Given the description of an element on the screen output the (x, y) to click on. 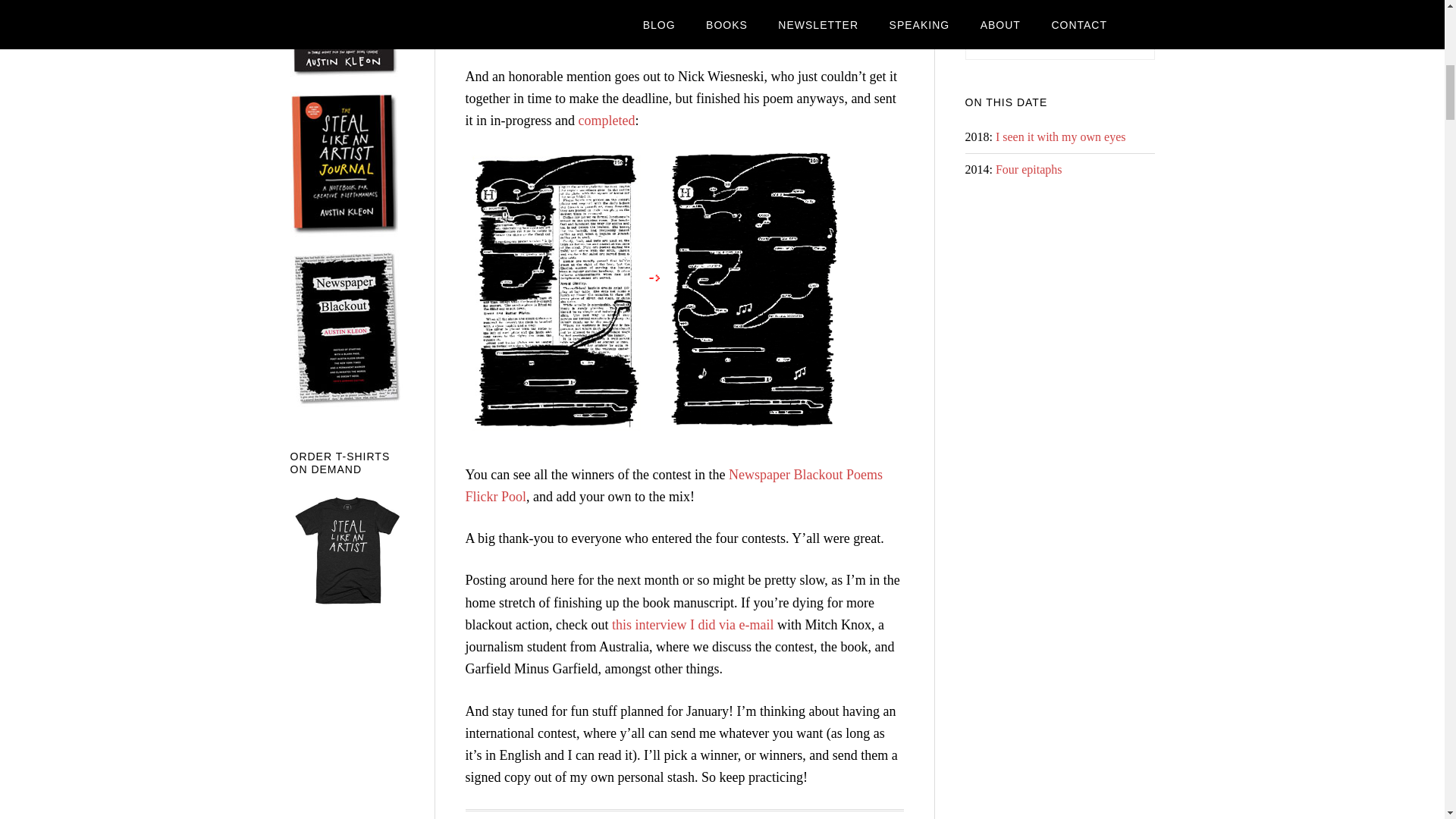
Newspaper Blackout Poems Flickr Pool (674, 485)
this interview I did via e-mail (692, 624)
Nick Wiesneski (720, 75)
completed (606, 120)
